Given the description of an element on the screen output the (x, y) to click on. 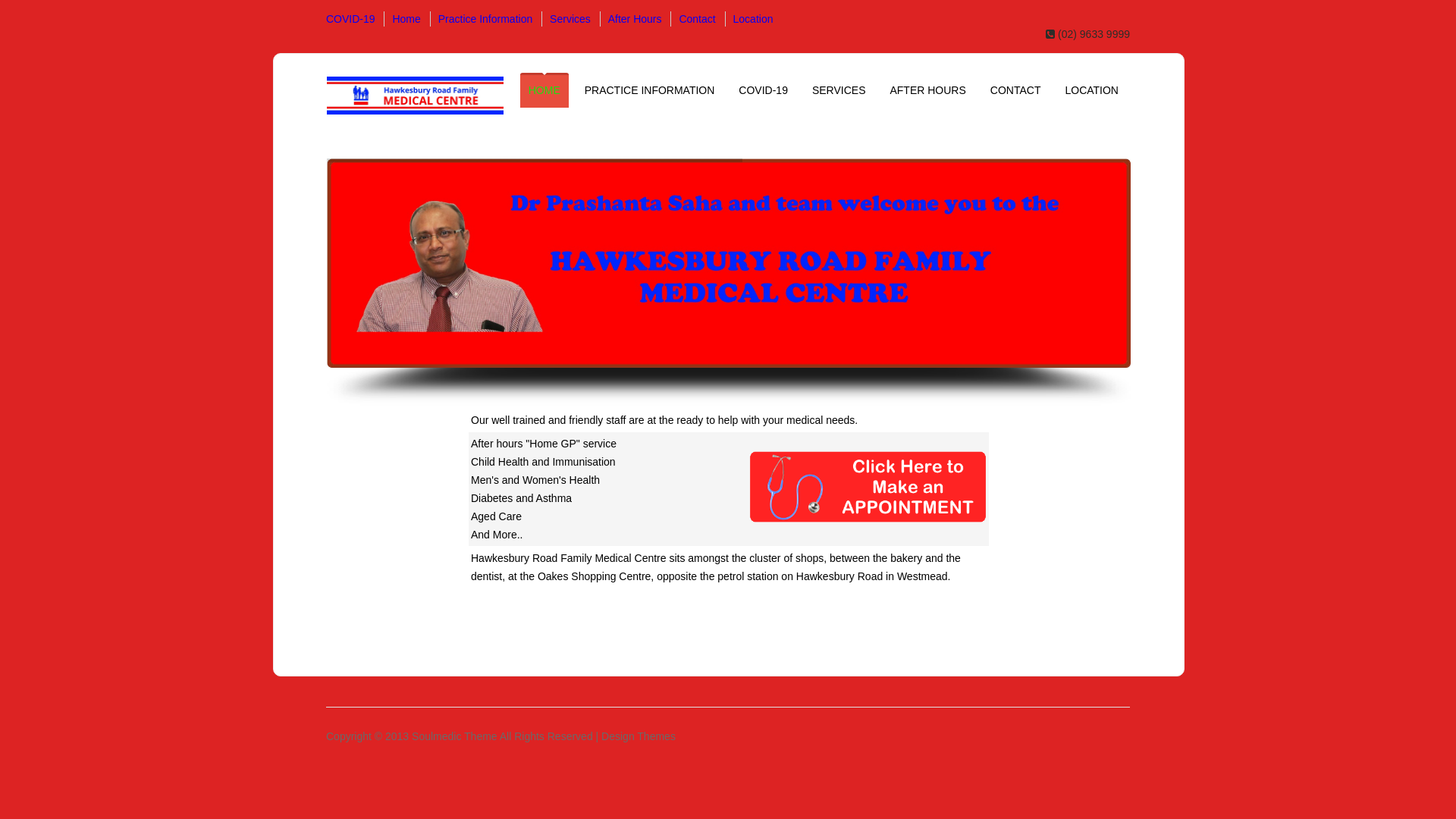
Services Element type: text (565, 18)
Practice Information Element type: text (481, 18)
Hawkesbury Road Family Medical Centre Element type: hover (414, 95)
HOME Element type: text (544, 89)
Design Themes Element type: text (638, 736)
Hawkesbury Road Family Medical Centre Element type: hover (414, 96)
COVID-19 Element type: text (763, 89)
PRACTICE INFORMATION Element type: text (649, 89)
Location Element type: text (748, 18)
AFTER HOURS Element type: text (927, 89)
COVID-19 Element type: text (350, 18)
SERVICES Element type: text (838, 89)
Contact Element type: text (692, 18)
LOCATION Element type: text (1091, 89)
CONTACT Element type: text (1015, 89)
After Hours Element type: text (630, 18)
Home Element type: text (401, 18)
